Given the description of an element on the screen output the (x, y) to click on. 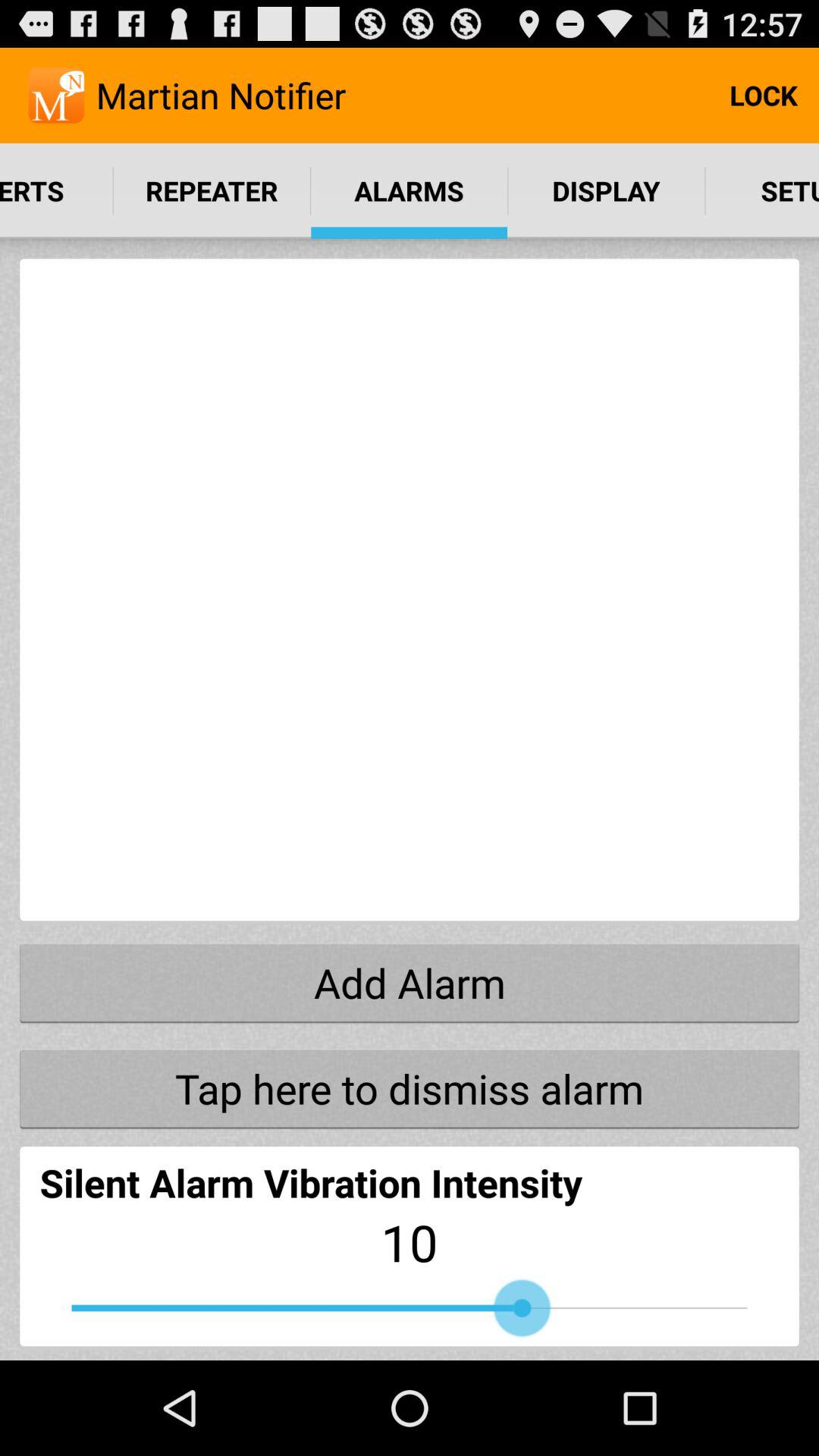
click item next to the martian notifier (763, 95)
